Given the description of an element on the screen output the (x, y) to click on. 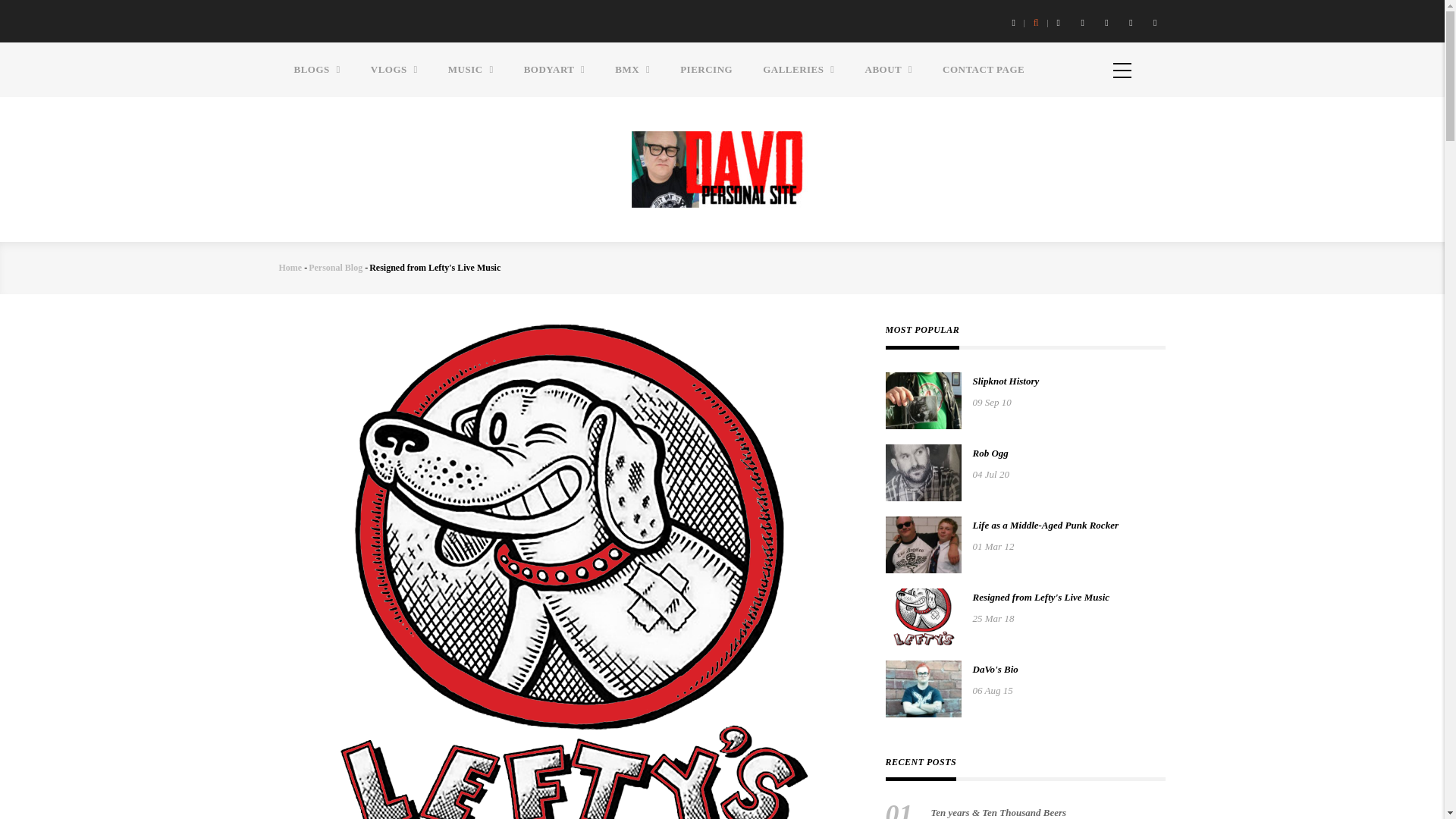
BLOGS (317, 69)
VLOGS (393, 69)
Log in (929, 202)
Search (752, 421)
Home (721, 167)
